Given the description of an element on the screen output the (x, y) to click on. 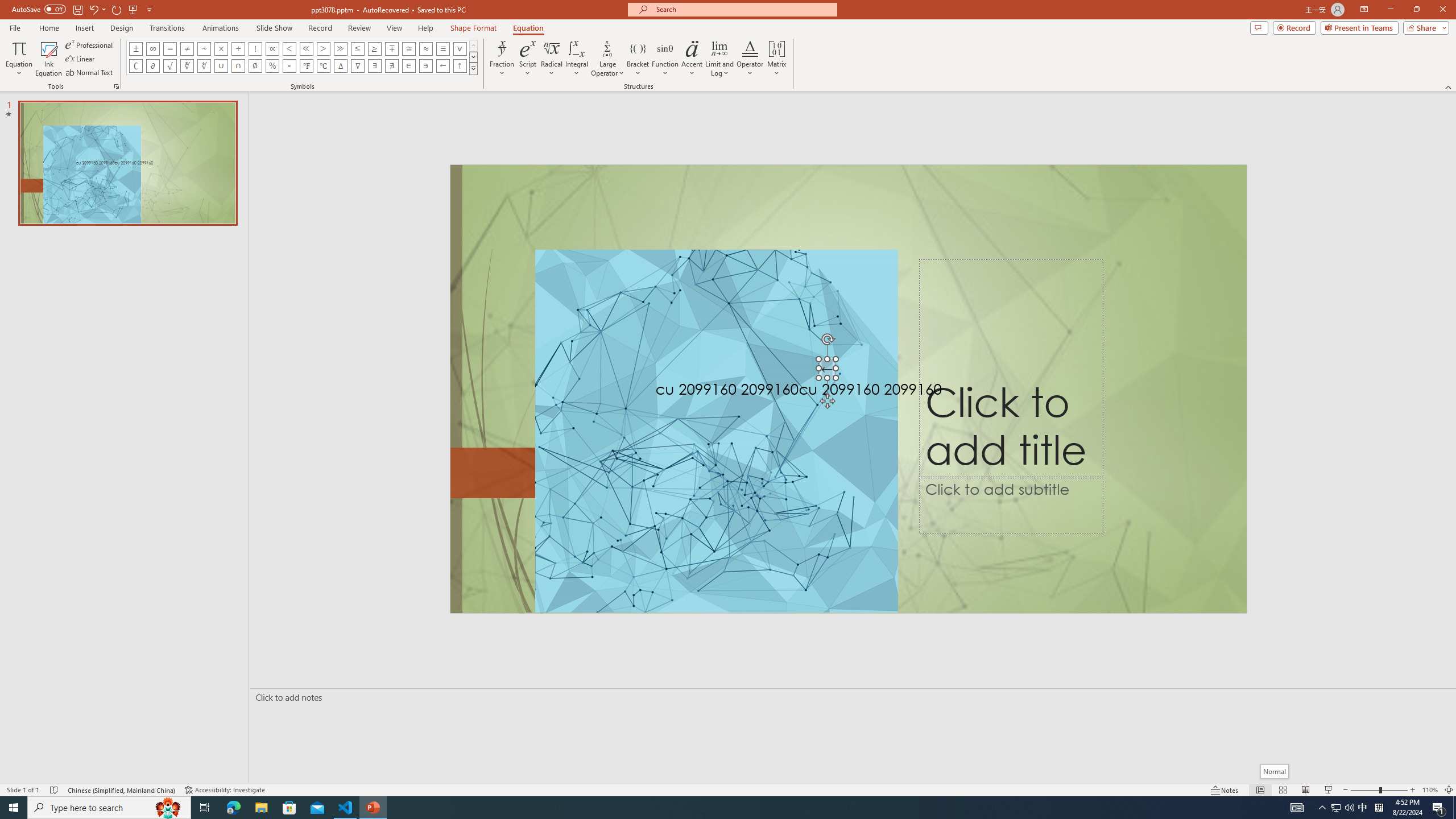
Equation Symbol Plus Minus (136, 48)
AutomationID: EquationSymbolsInsertGallery (302, 57)
Equation Symbol Increment (340, 65)
Equation Symbol Greater Than or Equal To (374, 48)
Equation Symbol Equal (170, 48)
Equation Symbol Less Than (289, 48)
Equation Symbol Much Greater Than (340, 48)
